Given the description of an element on the screen output the (x, y) to click on. 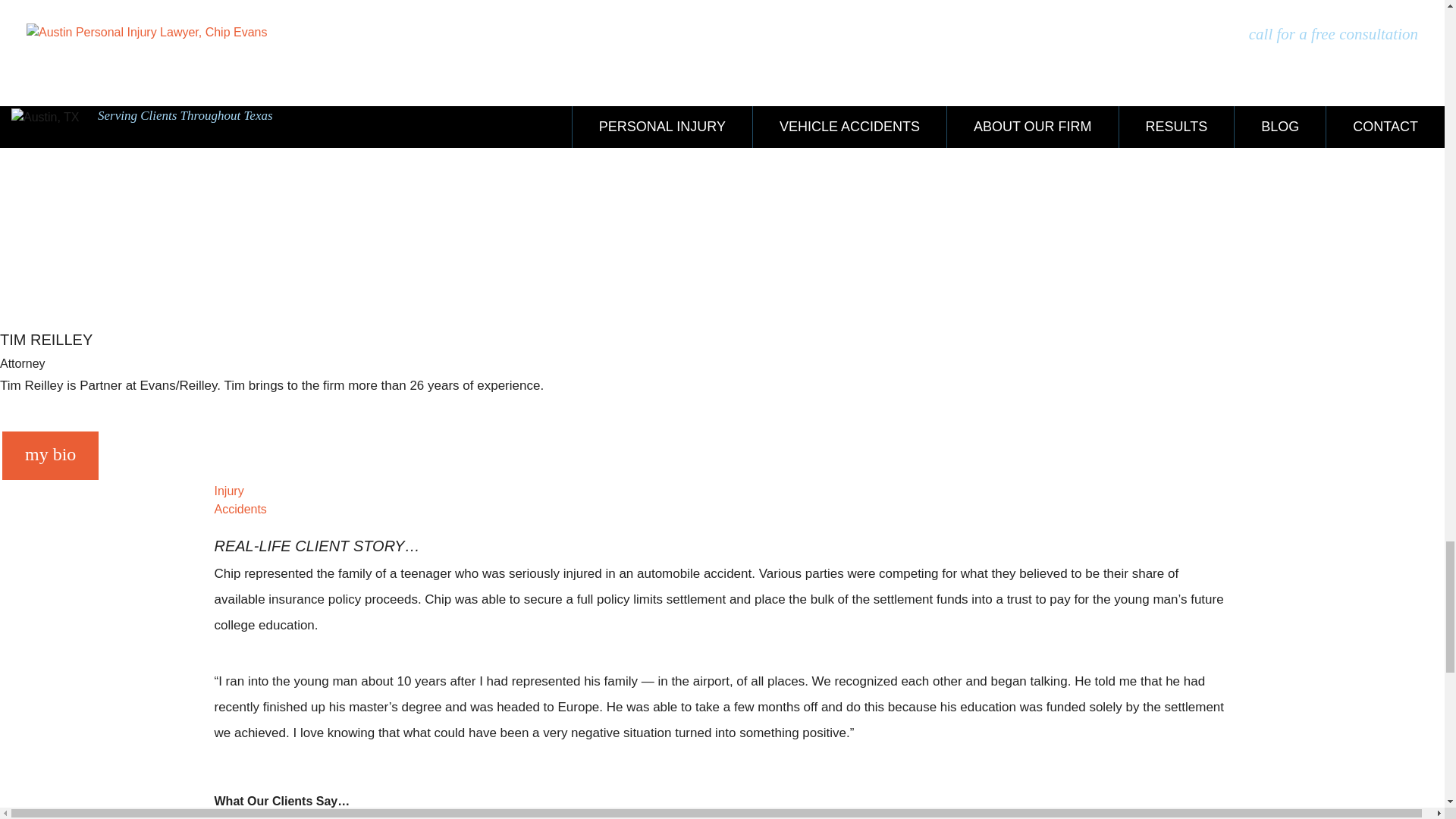
Injury (228, 490)
my bio (50, 455)
Accidents (240, 508)
